Given the description of an element on the screen output the (x, y) to click on. 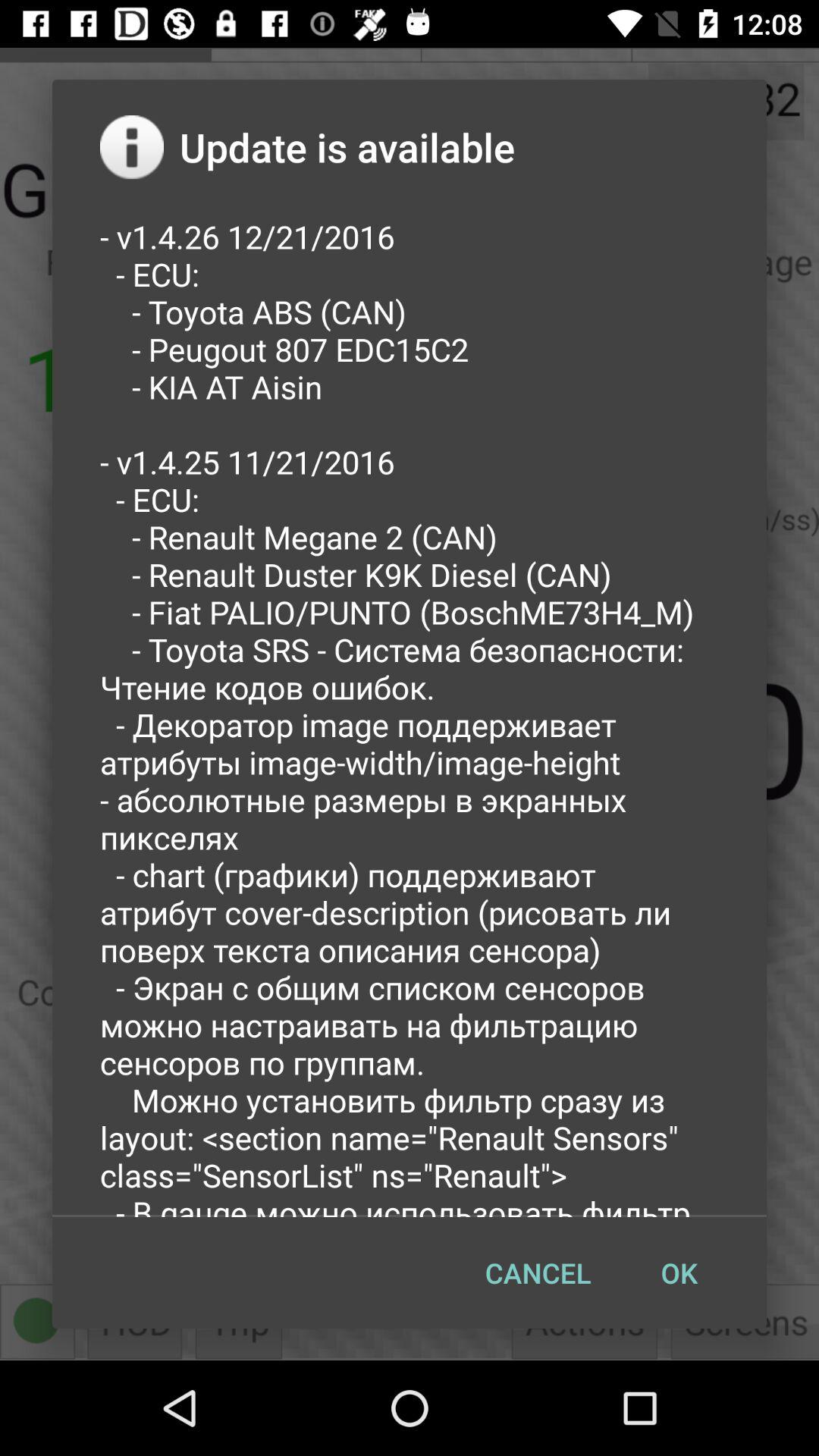
open the app below the v1 4 26 item (538, 1272)
